Given the description of an element on the screen output the (x, y) to click on. 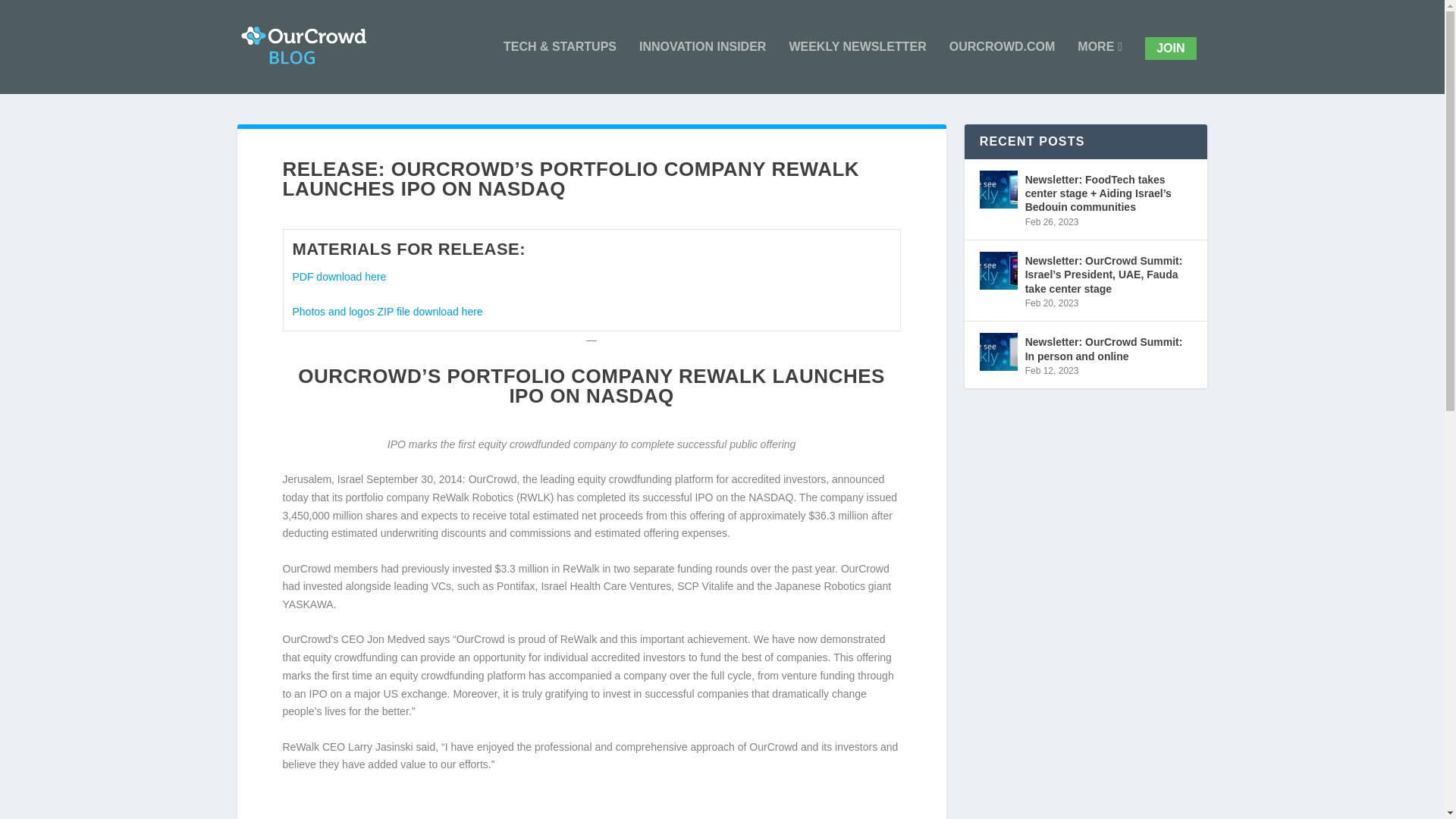
Newsletter: OurCrowd Summit: In person and online (998, 351)
PDF download here (338, 276)
Photos and logos ZIP file download here (386, 311)
MORE (1099, 67)
INNOVATION INSIDER (702, 67)
OURCROWD.COM (1002, 67)
WEEKLY NEWSLETTER (857, 67)
Newsletter: OurCrowd Summit: In person and online (1108, 348)
JOIN (1169, 47)
